Given the description of an element on the screen output the (x, y) to click on. 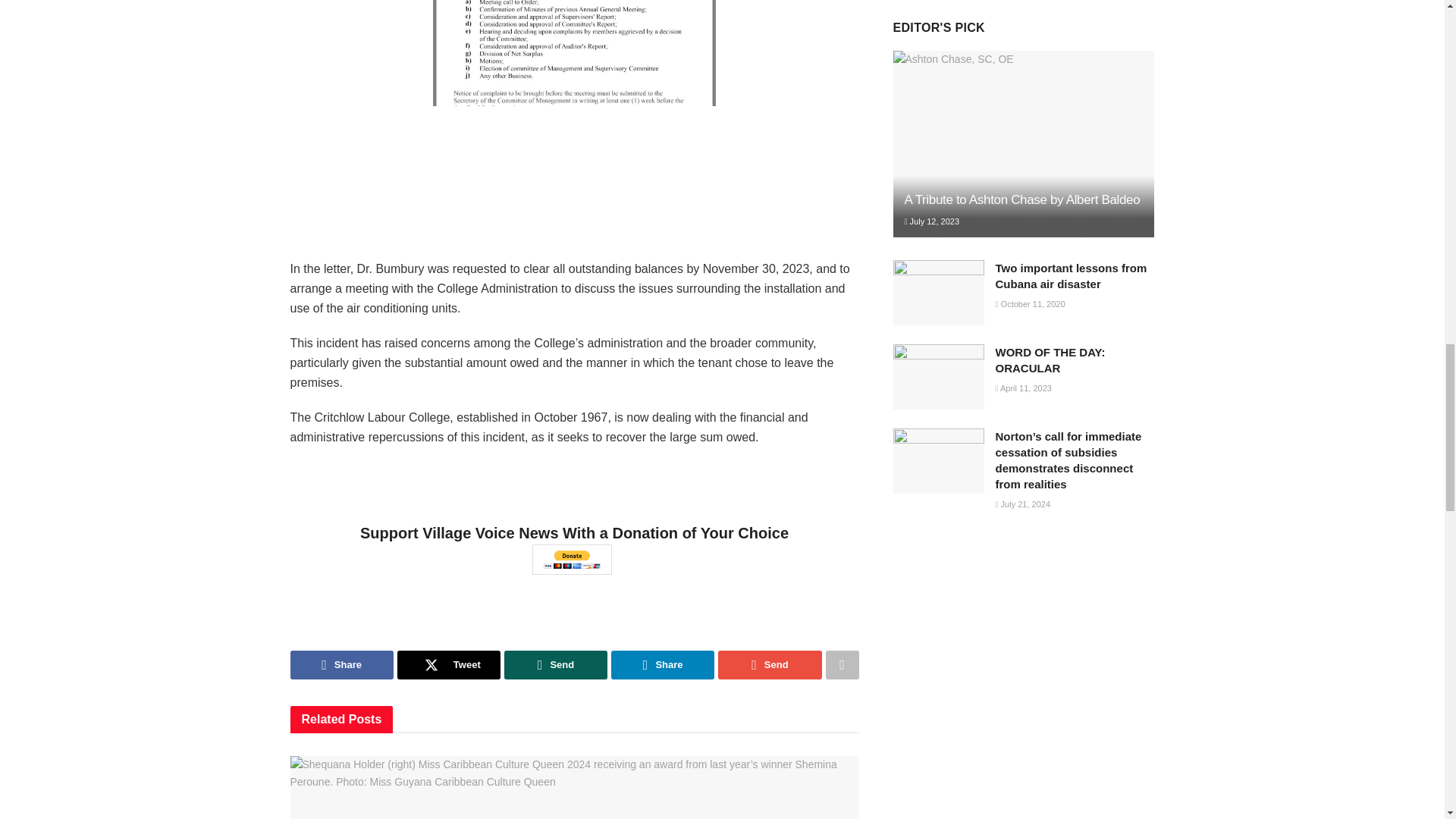
PayPal - The safer, easier way to pay online! (571, 559)
